Given the description of an element on the screen output the (x, y) to click on. 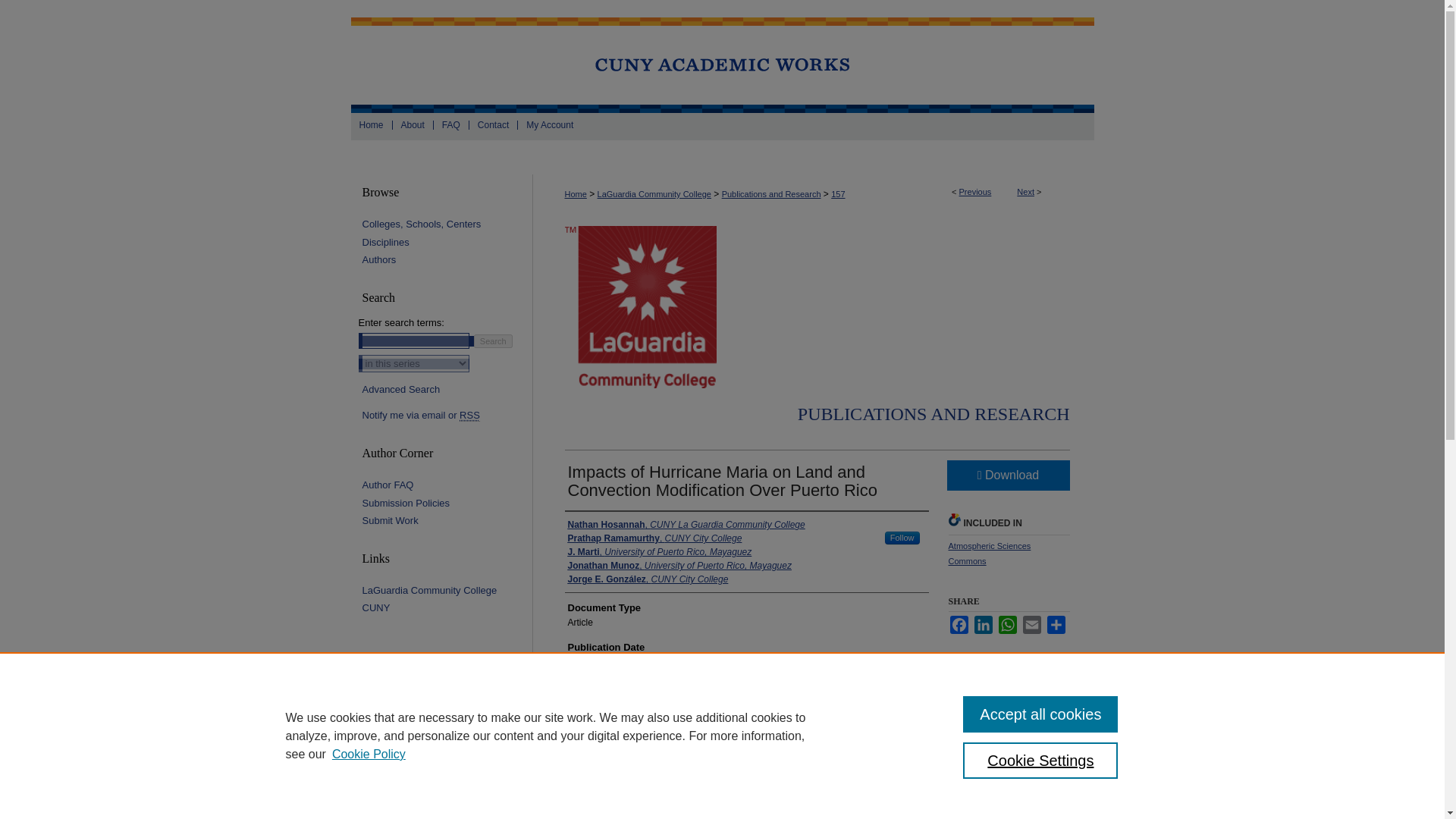
WhatsApp (1006, 624)
Follow (902, 537)
157 (837, 194)
Contact (493, 124)
Contact CUNY Academic Works (493, 124)
Share (1055, 624)
LaGuardia Community College (653, 194)
J. Marti, University of Puerto Rico, Mayaguez (659, 551)
Search (493, 341)
My Account (549, 124)
Facebook (958, 624)
CUNY Academic Works (721, 65)
Nathan Hosannah, CUNY La Guardia Community College (686, 524)
About (413, 124)
Next (1024, 191)
